Given the description of an element on the screen output the (x, y) to click on. 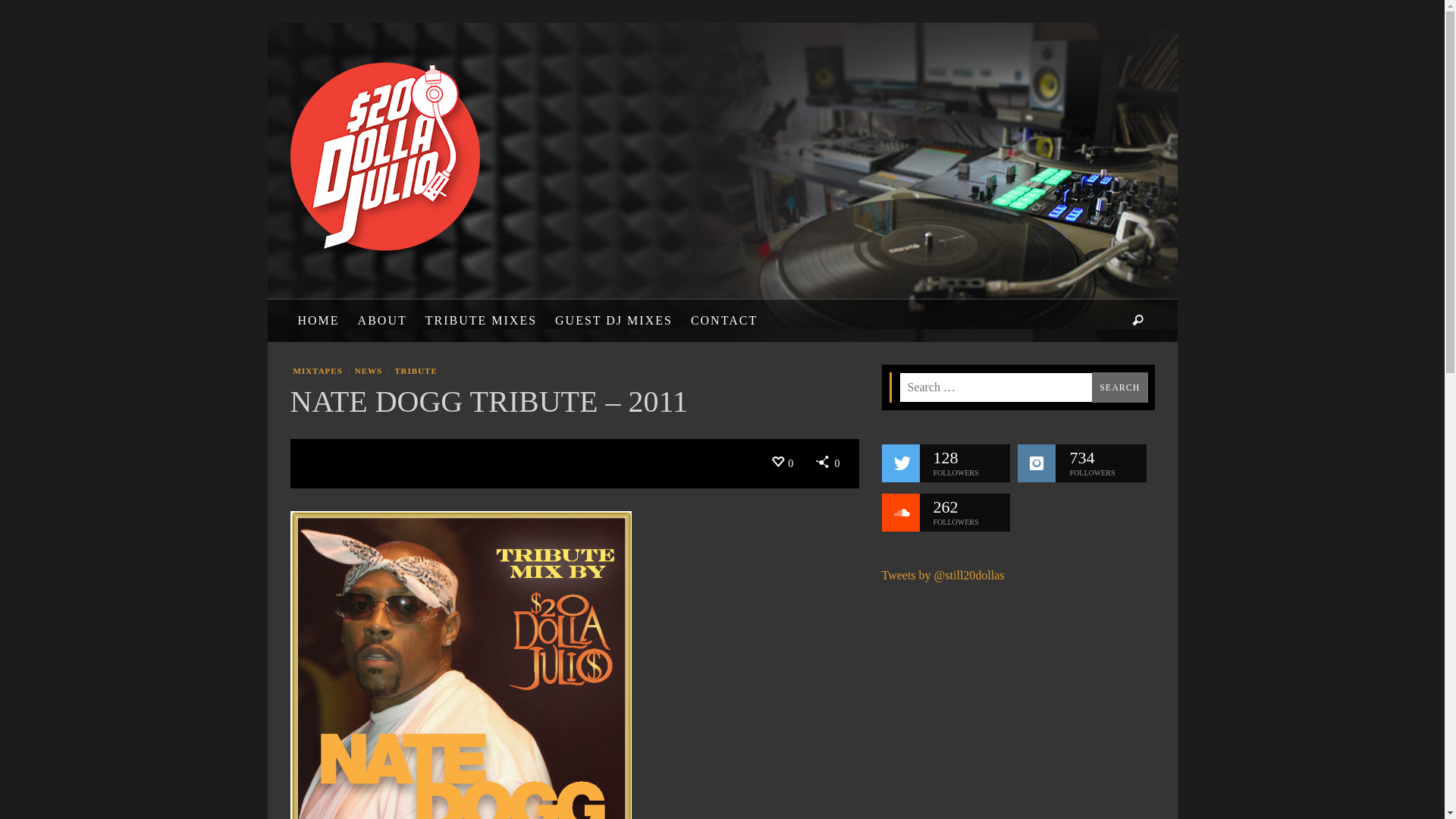
Tweets by @still20dollas Element type: text (942, 574)
HOME Element type: text (317, 320)
Follow our twitter Element type: hover (900, 463)
TRIBUTE MIXES Element type: text (480, 320)
Search Element type: text (1119, 387)
NEWS Element type: text (366, 370)
TRIBUTE Element type: text (414, 370)
MIXTAPES Element type: text (317, 370)
Follow our instagram Element type: hover (1036, 463)
ABOUT Element type: text (382, 320)
0 Element type: text (782, 463)
0 Element type: text (828, 463)
Follow our Soundcloud Element type: hover (900, 512)
CONTACT Element type: text (724, 320)
GUEST DJ MIXES Element type: text (613, 320)
